Given the description of an element on the screen output the (x, y) to click on. 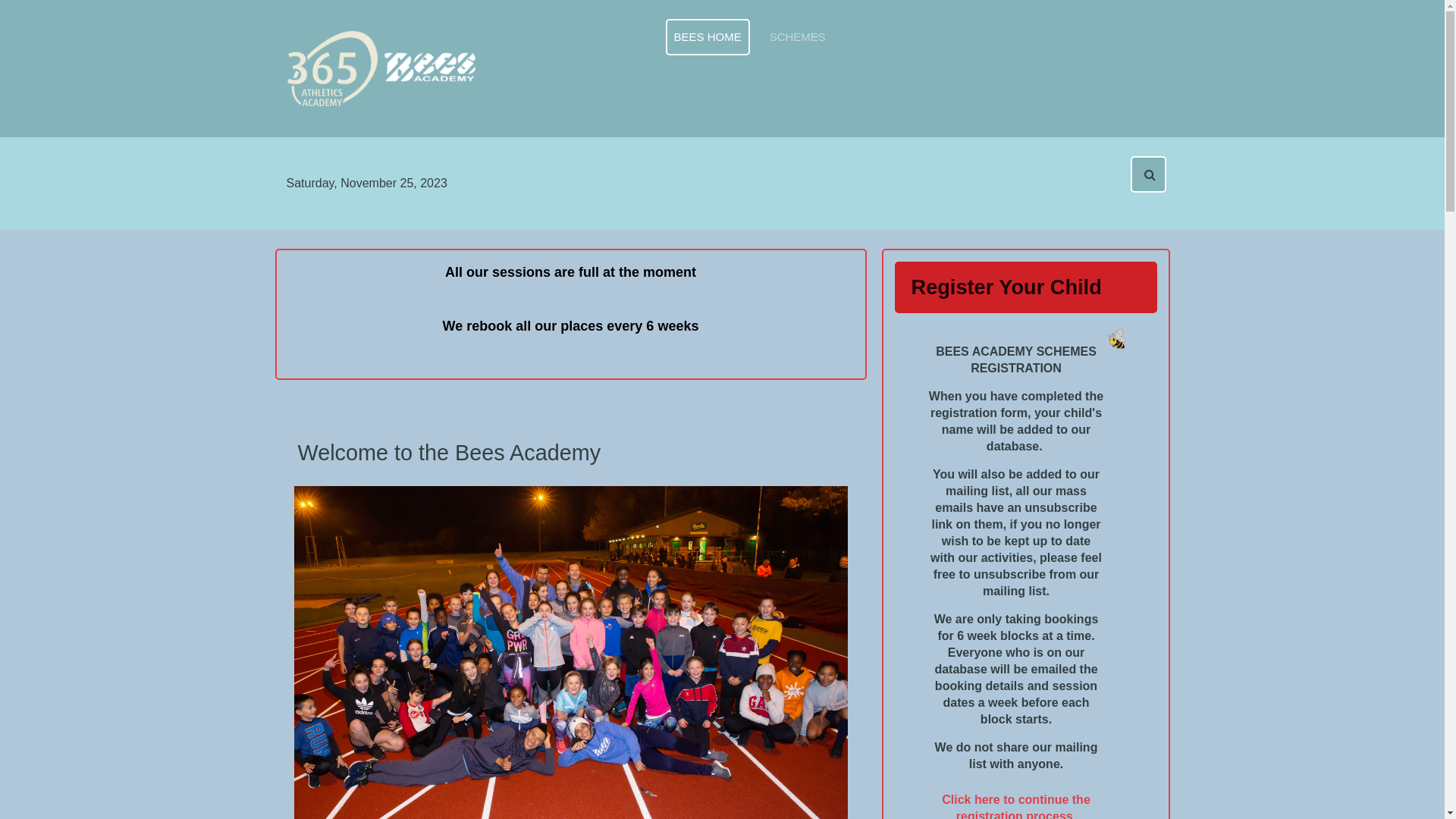
BEES HOME Element type: text (707, 36)
SCHEMES Element type: text (797, 36)
